Given the description of an element on the screen output the (x, y) to click on. 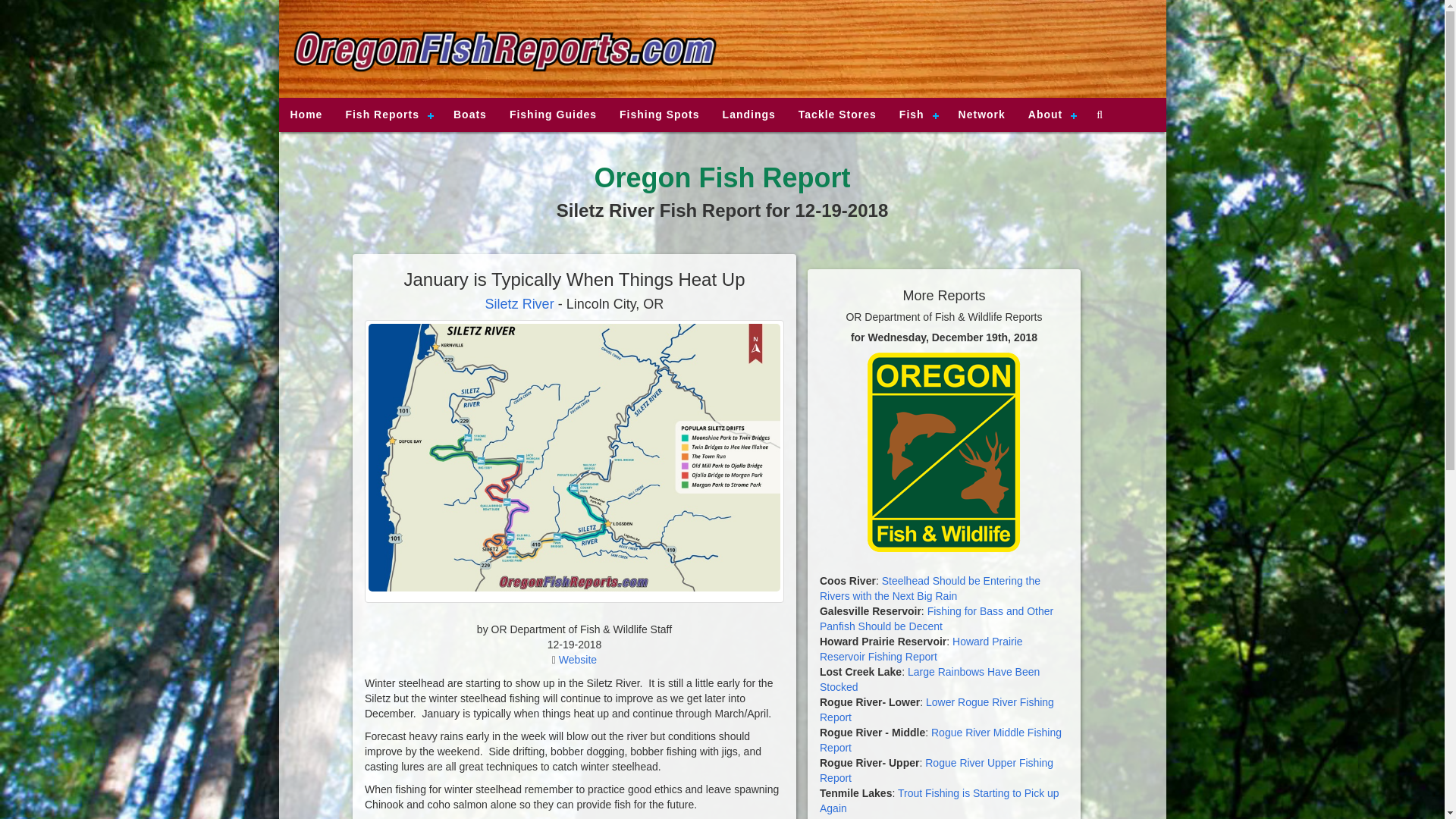
Website (577, 659)
Rogue River Middle Fishing Report (940, 739)
Fish Reports (387, 114)
About (1050, 114)
Network (981, 114)
Rogue River Upper Fishing Report (935, 769)
Boats (469, 114)
Home (306, 114)
Fishing for Bass and Other Panfish Should be Decent (935, 618)
Siletz River (519, 304)
Howard Prairie Reservoir Fishing Report (921, 648)
Tackle Stores (837, 114)
Trout Fishing is Starting to Pick up Again (939, 800)
